Given the description of an element on the screen output the (x, y) to click on. 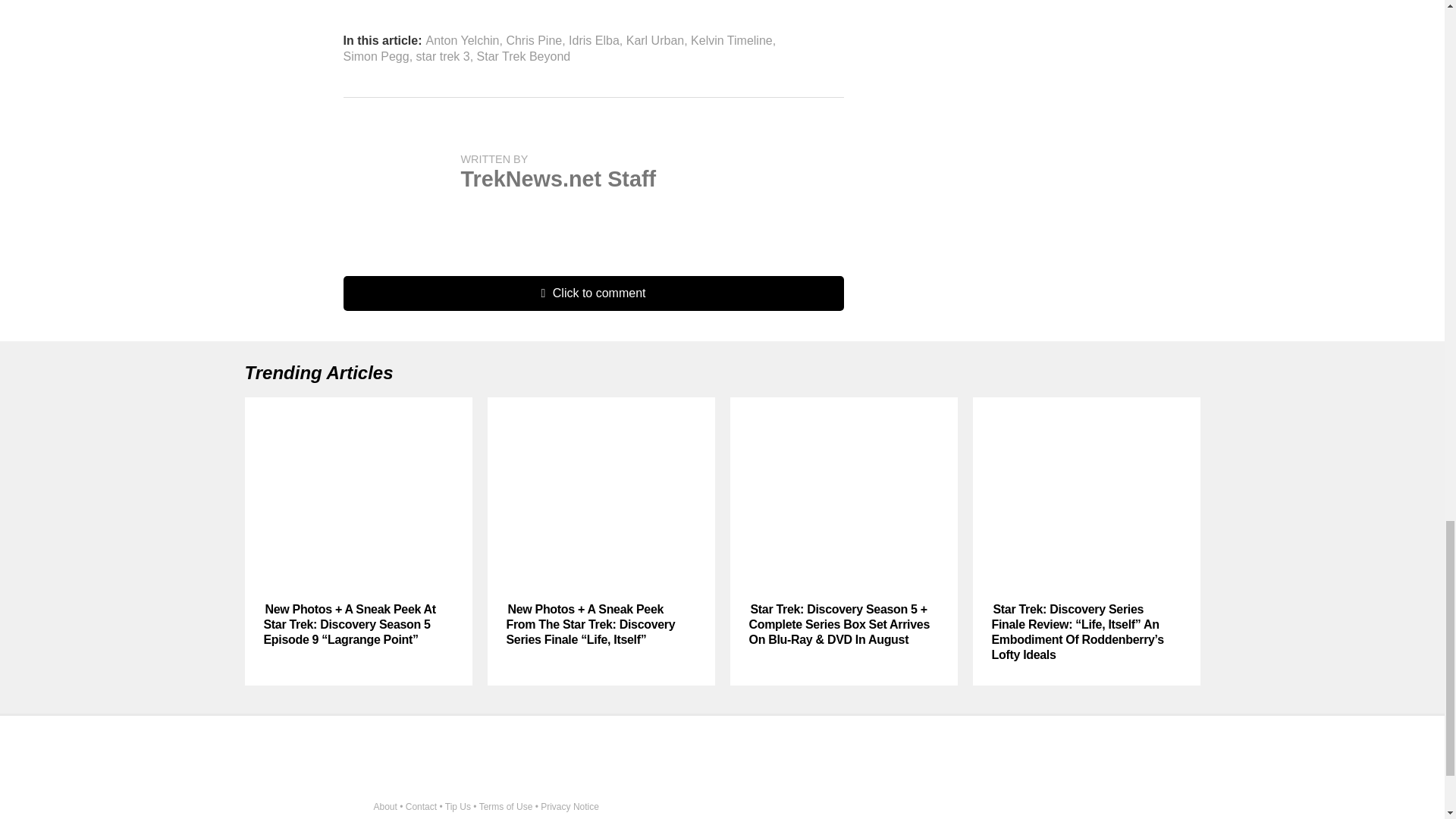
Posts by TrekNews.net Staff (558, 178)
